Given the description of an element on the screen output the (x, y) to click on. 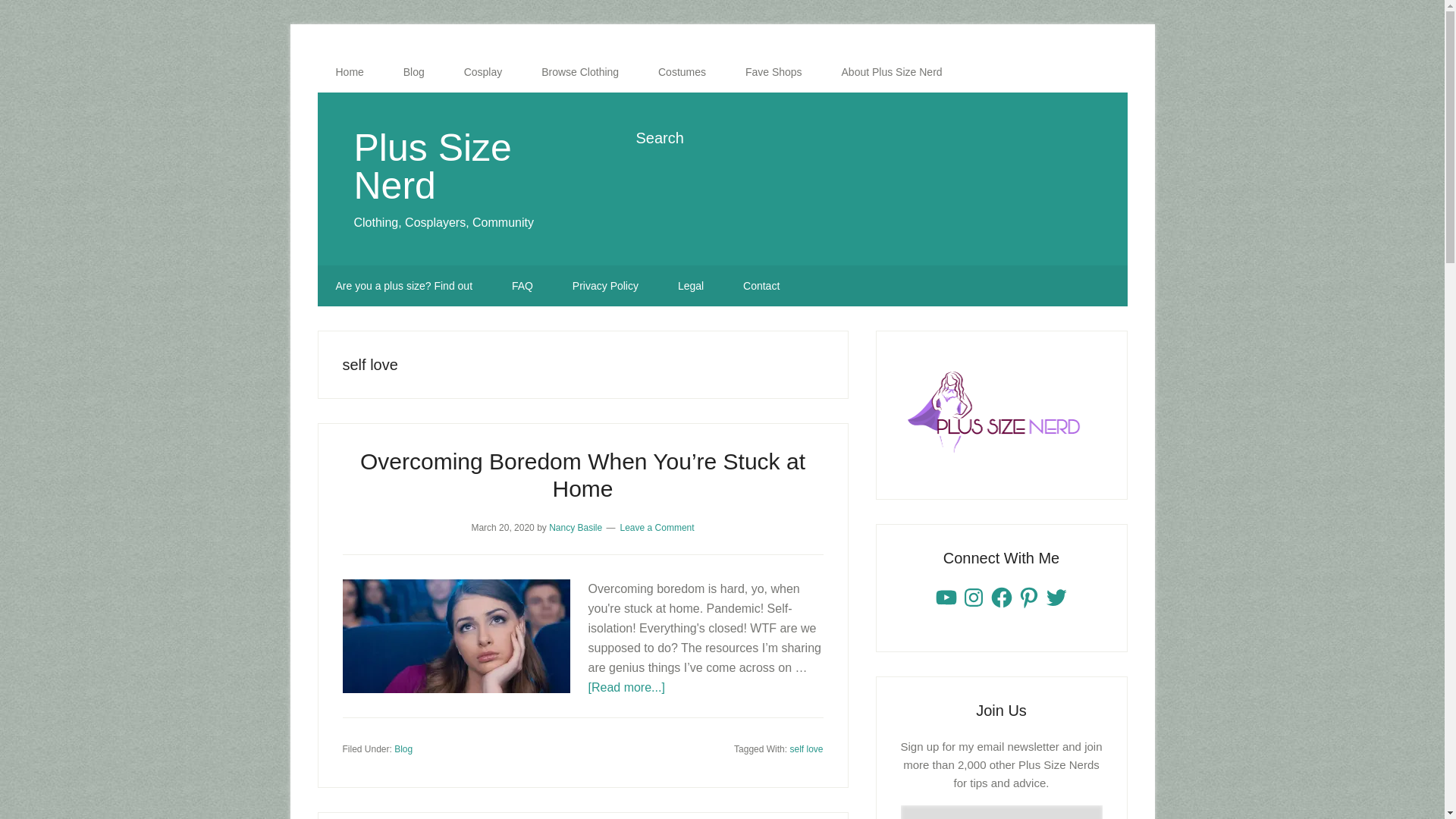
Cosplay (483, 71)
Home (349, 71)
About Plus Size Nerd (892, 71)
Fave Shops (773, 71)
Blog (413, 71)
Browse Clothing (579, 71)
Costumes (681, 71)
